Given the description of an element on the screen output the (x, y) to click on. 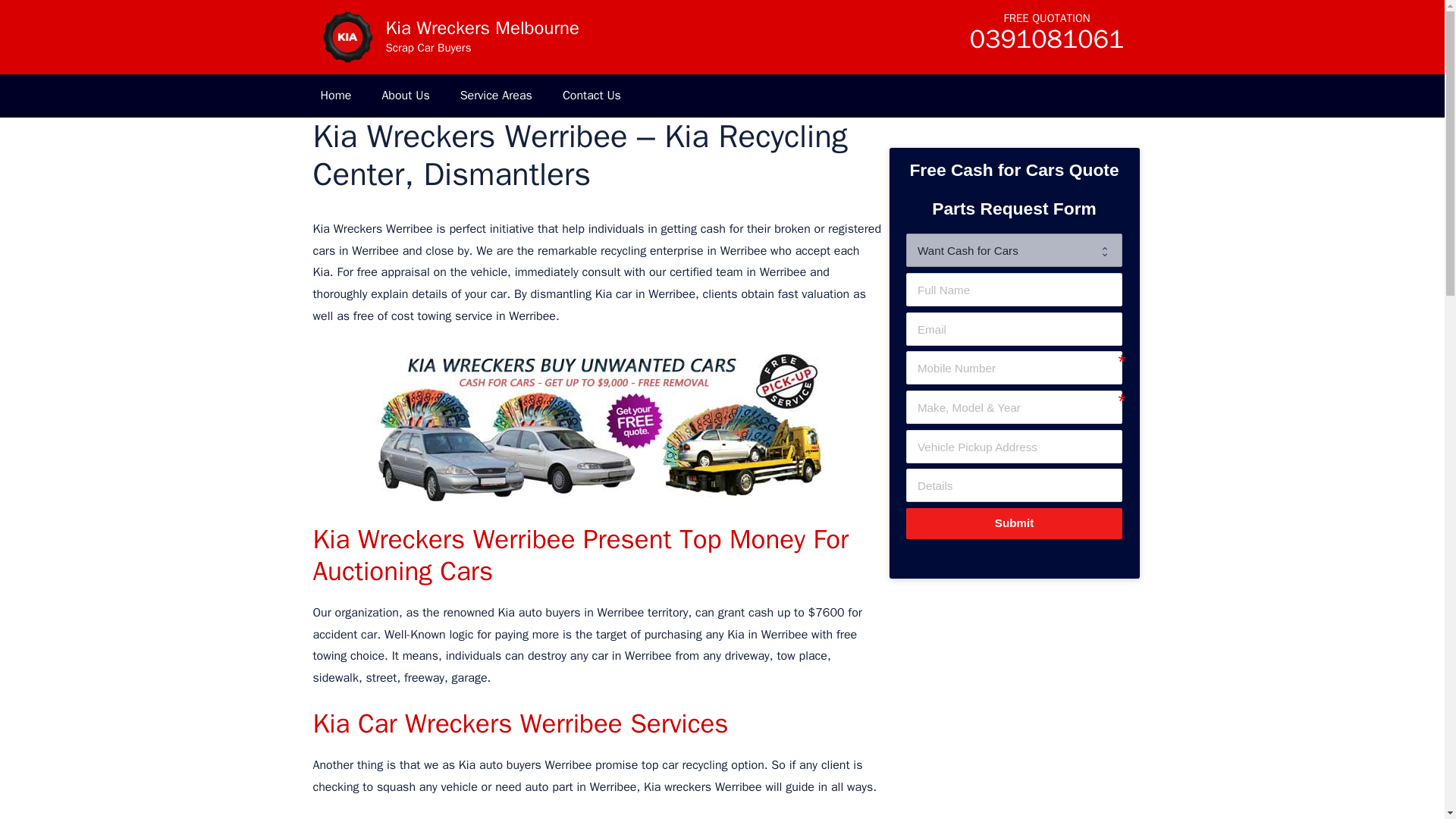
Home (335, 95)
0391081061 (1046, 44)
Contact Us (591, 95)
About Us (405, 95)
Submit (1013, 522)
Kia Wreckers Melbourne (346, 36)
Kia Wreckers Melbourne (481, 27)
Service Areas (496, 95)
Kia Wreckers Melbourne (346, 36)
